Given the description of an element on the screen output the (x, y) to click on. 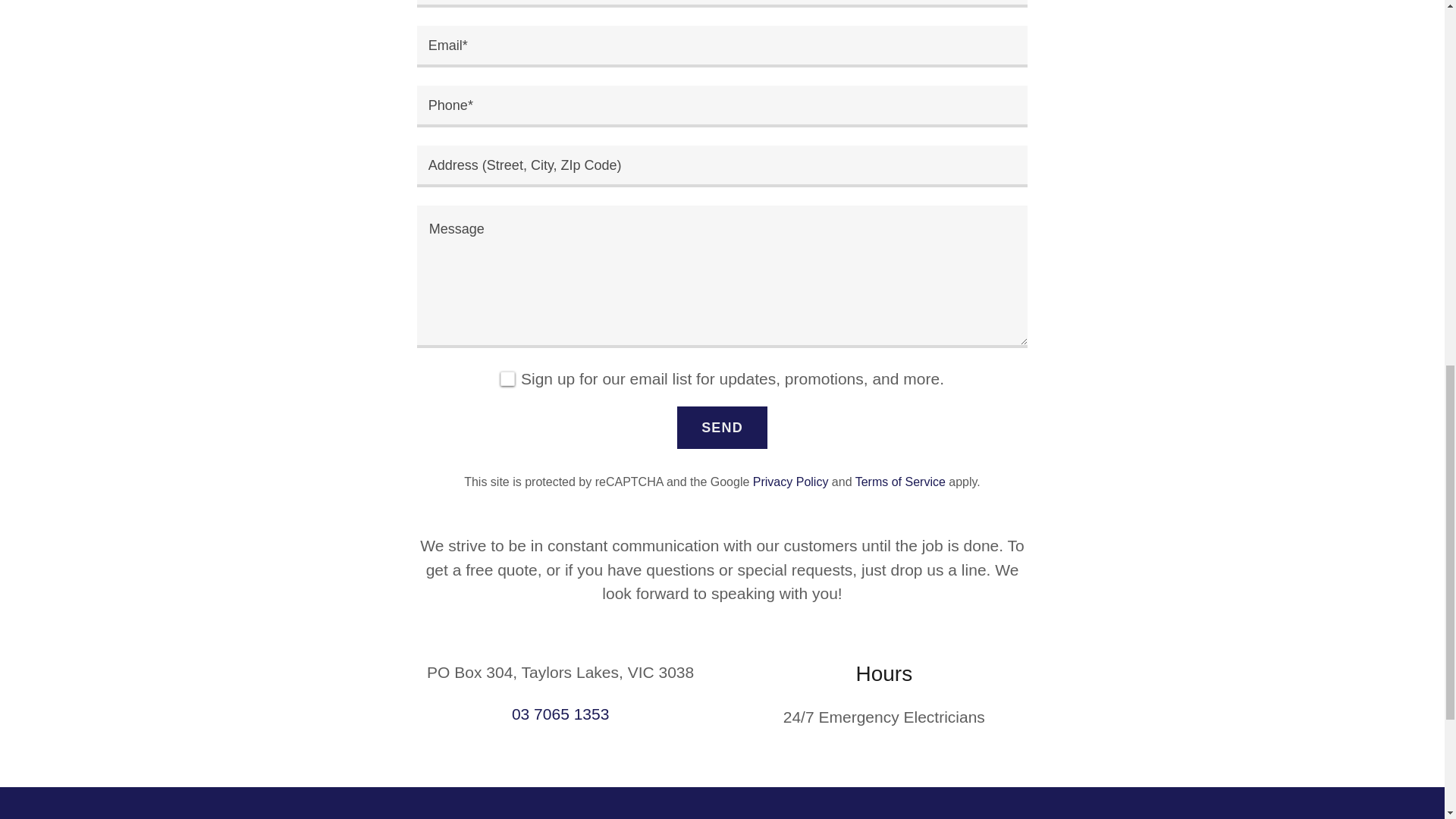
SEND (722, 427)
Privacy Policy (790, 481)
Terms of Service (900, 481)
